Given the description of an element on the screen output the (x, y) to click on. 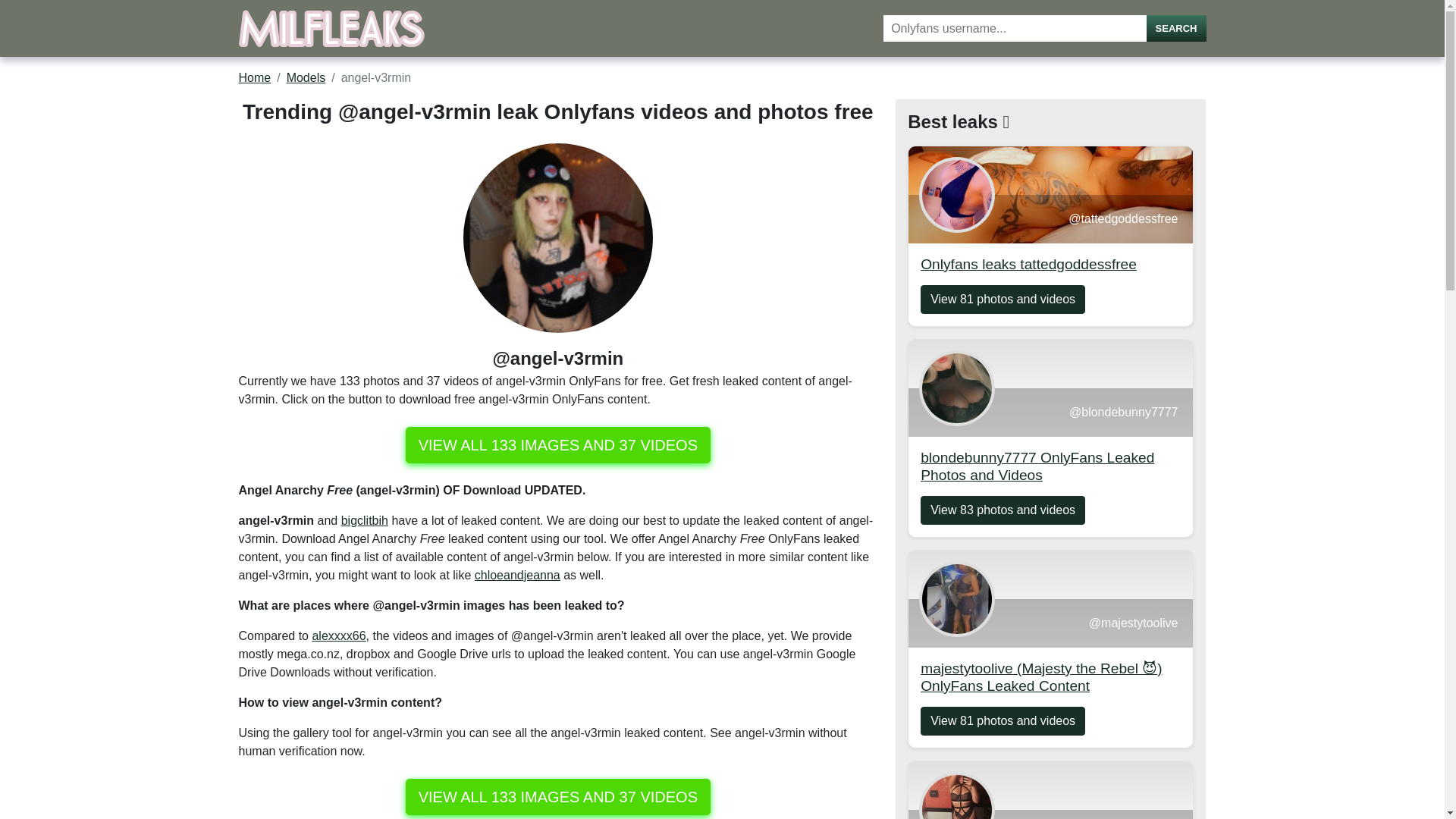
SEARCH (1177, 28)
alexxxx66 (338, 635)
bigclitbih (364, 520)
VIEW ALL 133 IMAGES AND 37 VIDEOS (558, 444)
chloeandjeanna (517, 574)
Home (254, 77)
Models (306, 77)
VIEW ALL 133 IMAGES AND 37 VIDEOS (558, 796)
